Given the description of an element on the screen output the (x, y) to click on. 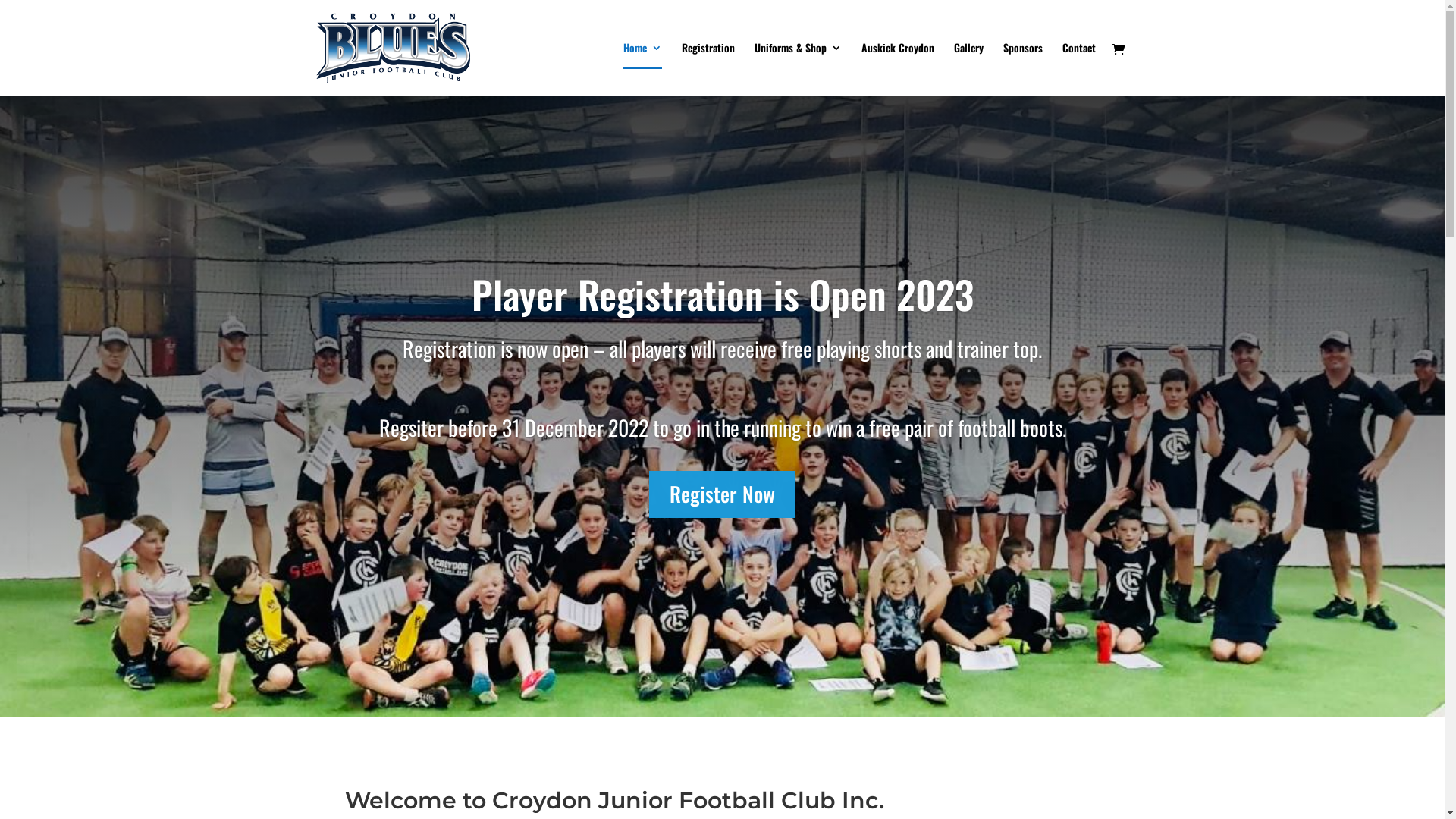
Register Now Element type: text (722, 493)
Gallery Element type: text (968, 68)
Registration Element type: text (707, 68)
Player Registration is Open 2023 Element type: text (722, 293)
Sponsors Element type: text (1021, 68)
Home Element type: text (642, 68)
Uniforms & Shop Element type: text (796, 68)
Auskick Croydon Element type: text (897, 68)
Contact Element type: text (1078, 68)
